Given the description of an element on the screen output the (x, y) to click on. 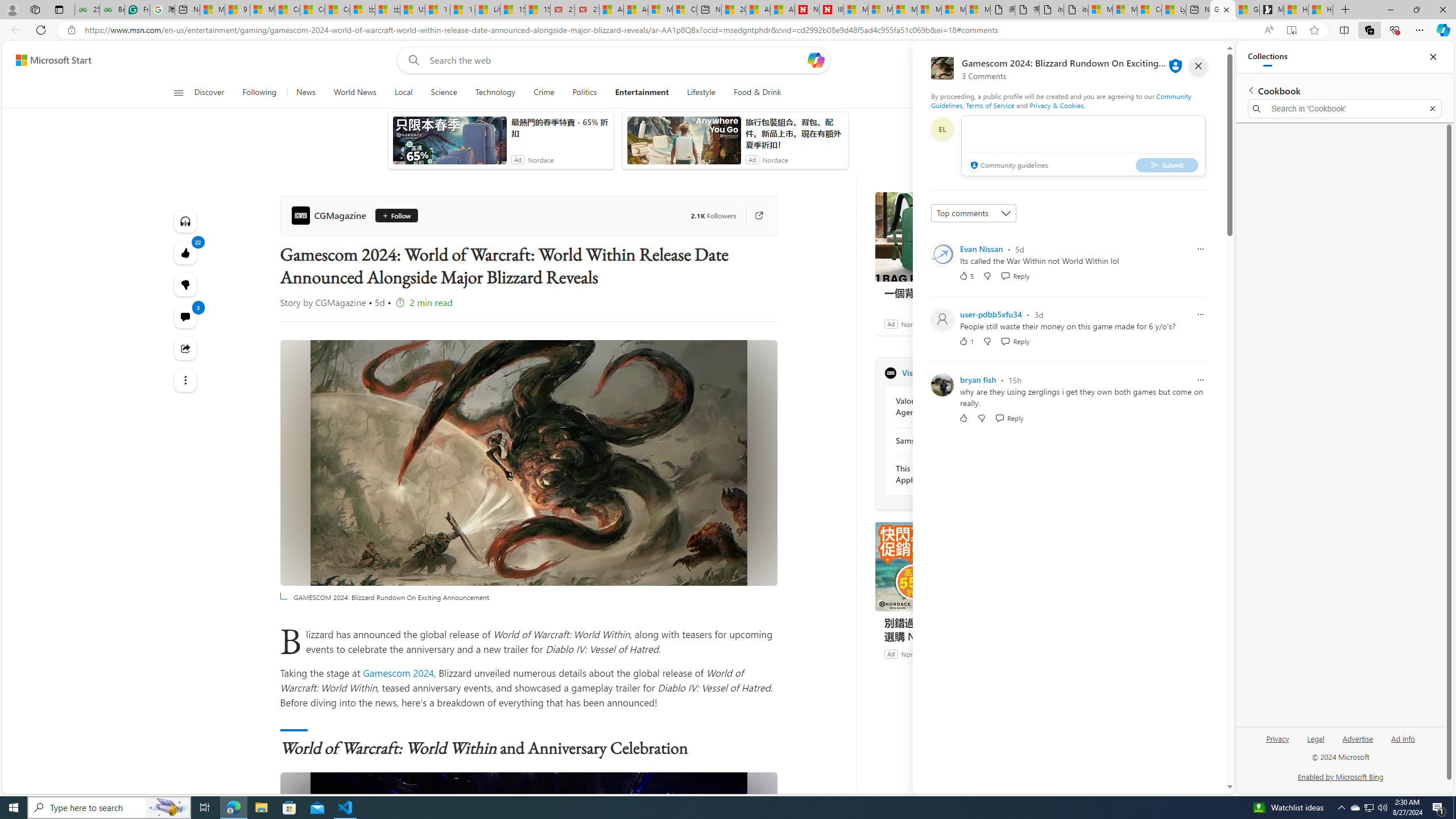
Follow (395, 215)
user-pdbb5xfu34 (990, 314)
Science (442, 92)
Free AI Writing Assistance for Students | Grammarly (136, 9)
Illness news & latest pictures from Newsweek.com (830, 9)
Notifications (1177, 60)
anim-content (683, 144)
